Given the description of an element on the screen output the (x, y) to click on. 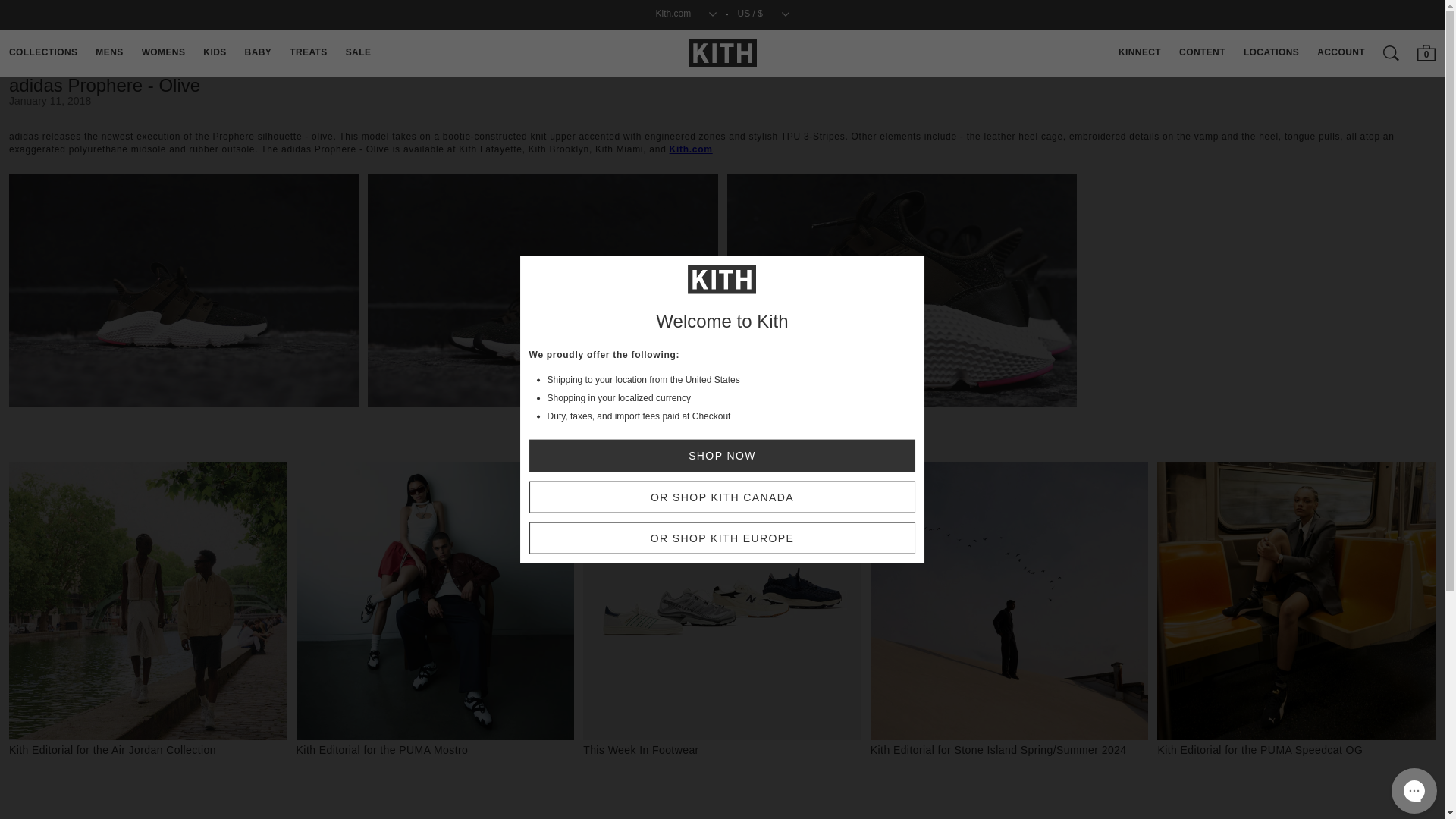
Kith (722, 52)
KITH LOGO (722, 52)
